Given the description of an element on the screen output the (x, y) to click on. 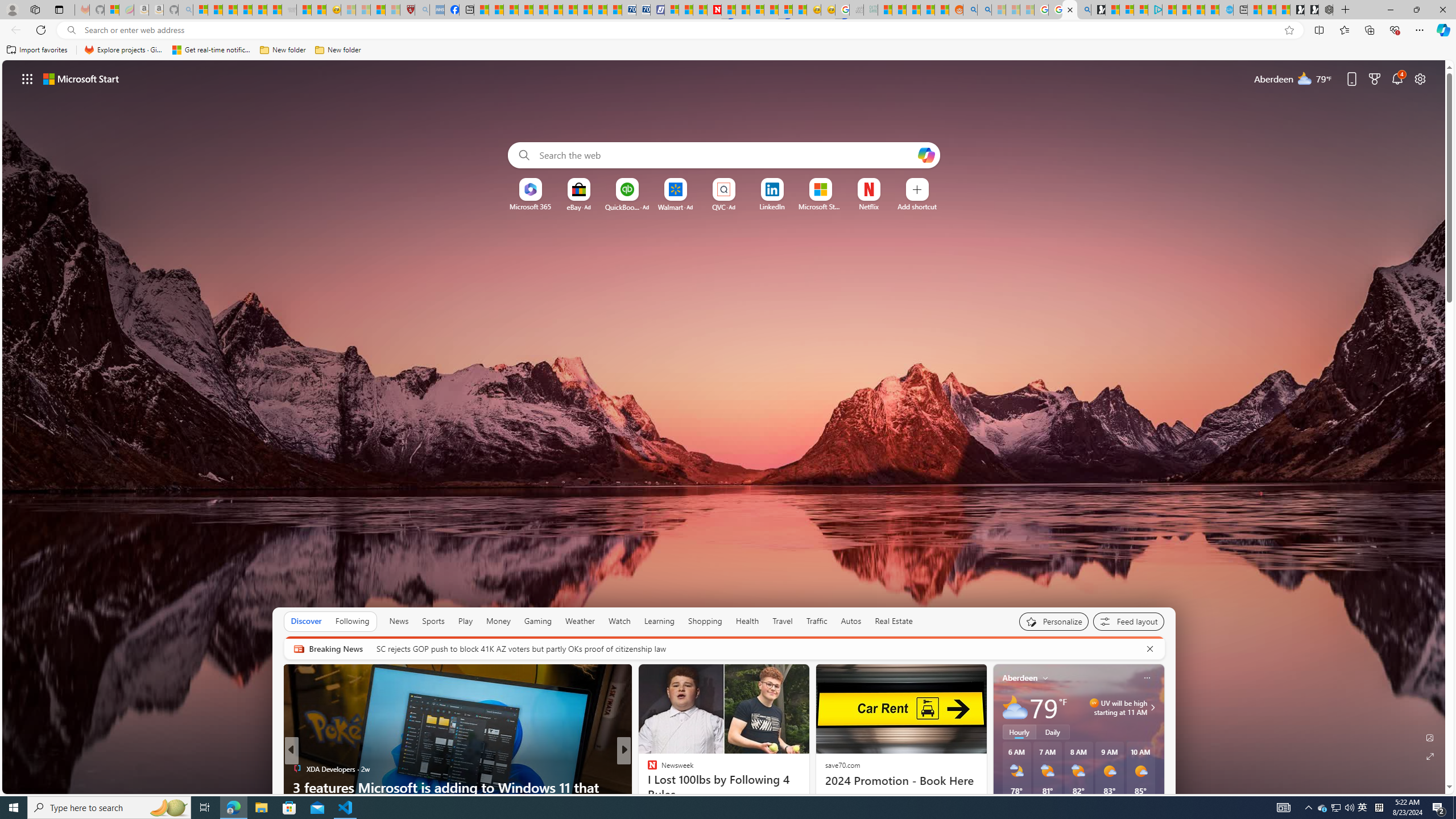
Aberdeen (1019, 678)
Personalize your feed" (1054, 621)
Play (465, 621)
